Given the description of an element on the screen output the (x, y) to click on. 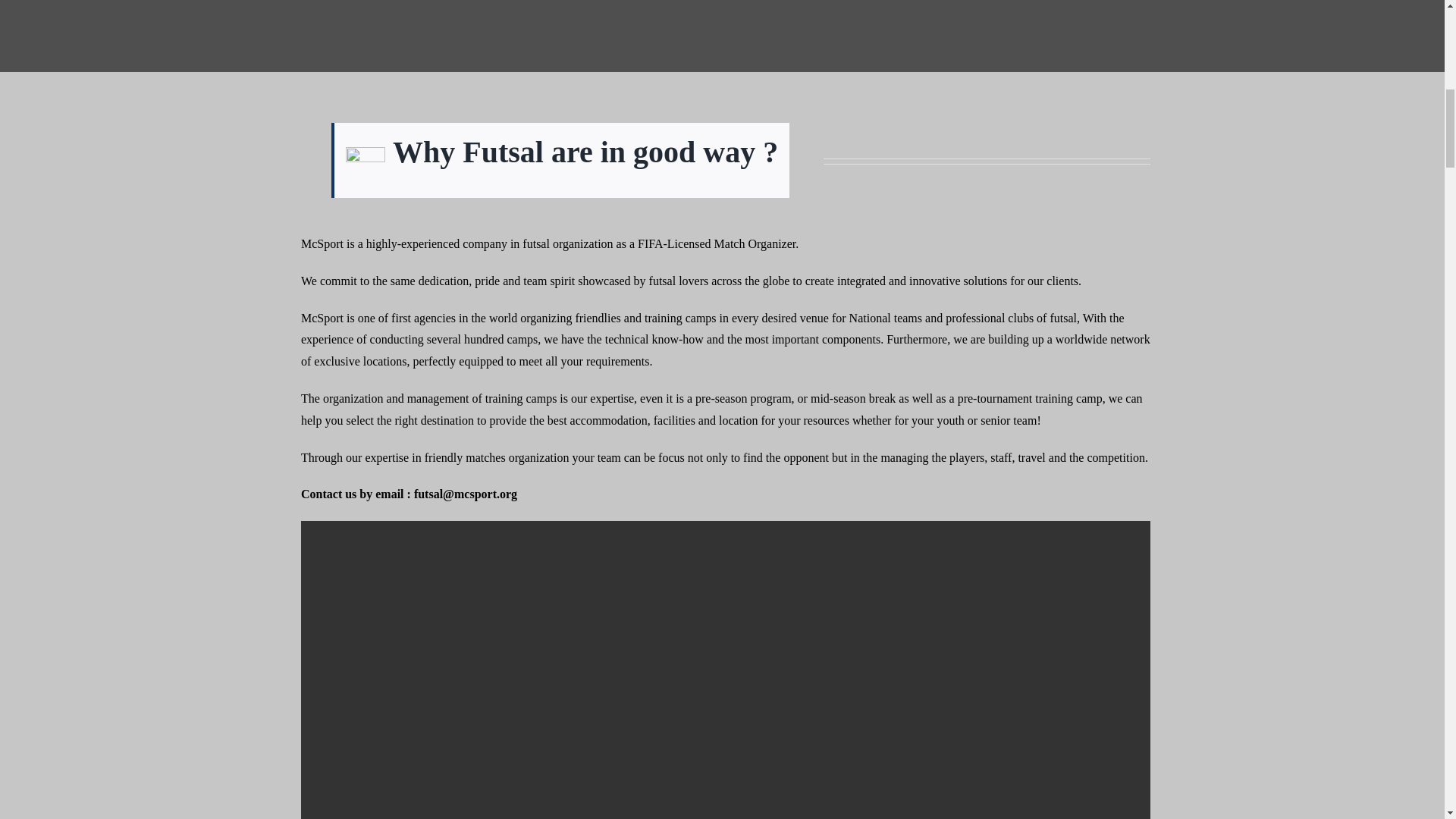
Page 4 (725, 303)
